Given the description of an element on the screen output the (x, y) to click on. 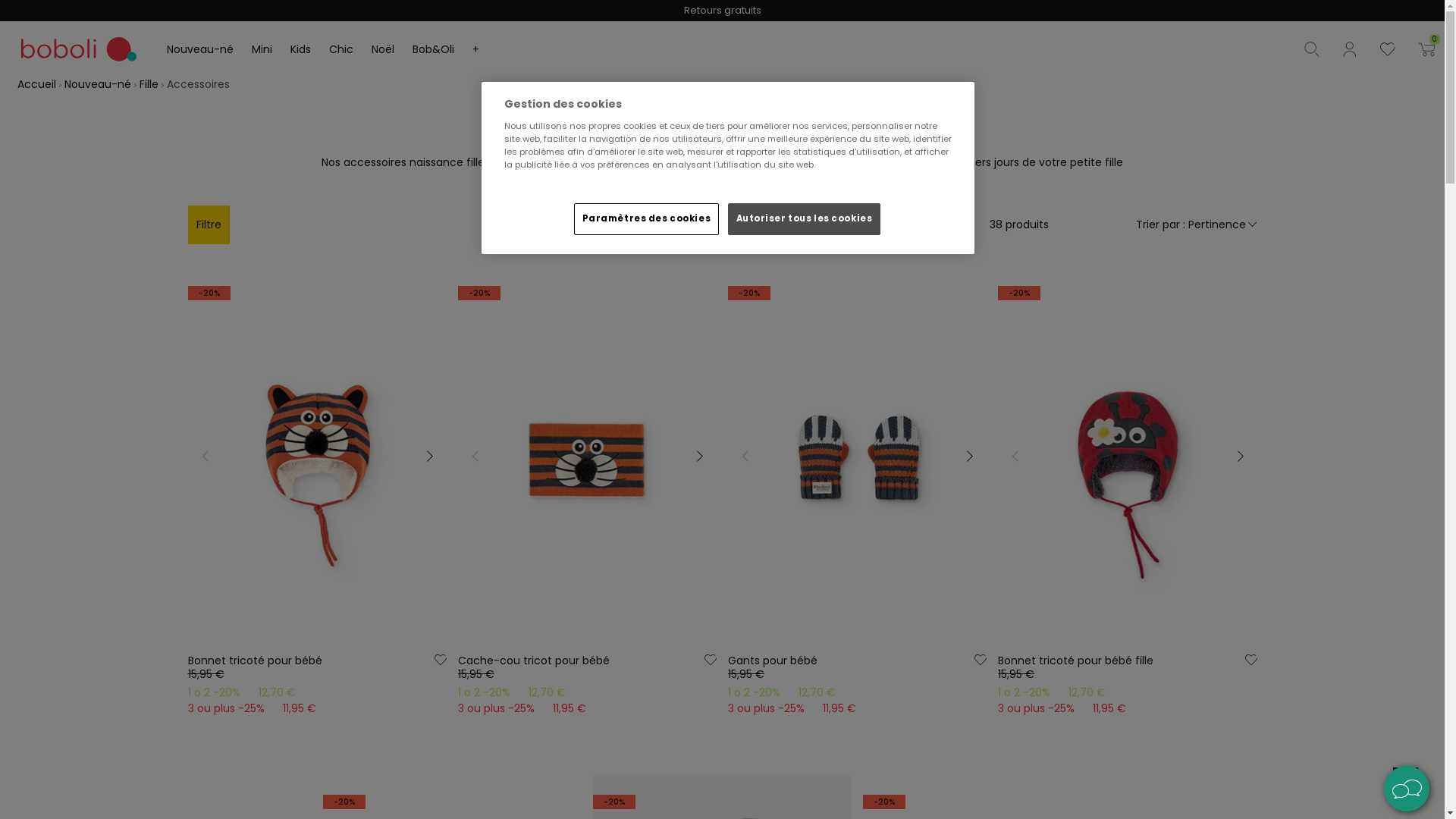
Chic Element type: text (341, 49)
Autoriser tous les cookies Element type: text (804, 219)
Trier par : Pertinence Element type: text (1196, 224)
Previous Element type: text (744, 455)
Kids Element type: text (299, 49)
Next Element type: text (429, 455)
Next Element type: text (699, 455)
image/svg+xml Element type: text (1399, 48)
Next Element type: text (1239, 455)
Bob&Oli Element type: text (433, 49)
Previous Element type: text (1014, 455)
Fille image/svg+xml Element type: text (151, 84)
Next Element type: text (969, 455)
Mini Element type: text (261, 49)
Previous Element type: text (474, 455)
Filtre Element type: text (208, 224)
Accueil image/svg+xml Element type: text (38, 84)
Identifiez-vous Element type: hover (1361, 48)
Previous Element type: text (204, 455)
